Given the description of an element on the screen output the (x, y) to click on. 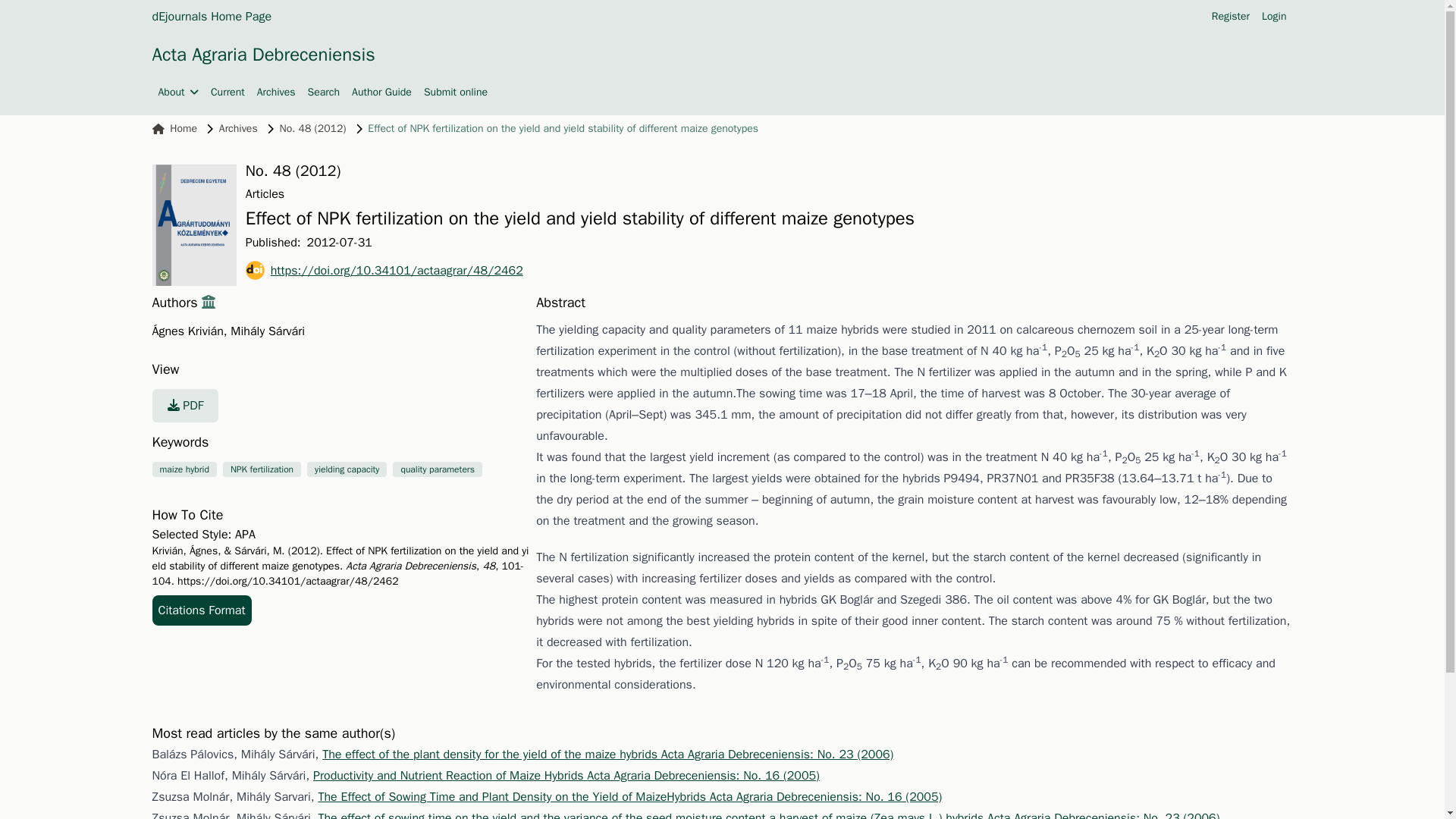
Login (1273, 16)
Archives (276, 92)
Search (323, 92)
Current (227, 92)
Home (173, 128)
Register (1230, 16)
Author Guide (382, 92)
dEjournals Home Page (210, 16)
Acta Agraria Debreceniensis (262, 54)
Archives (238, 128)
About (177, 92)
Submit online (455, 92)
